Given the description of an element on the screen output the (x, y) to click on. 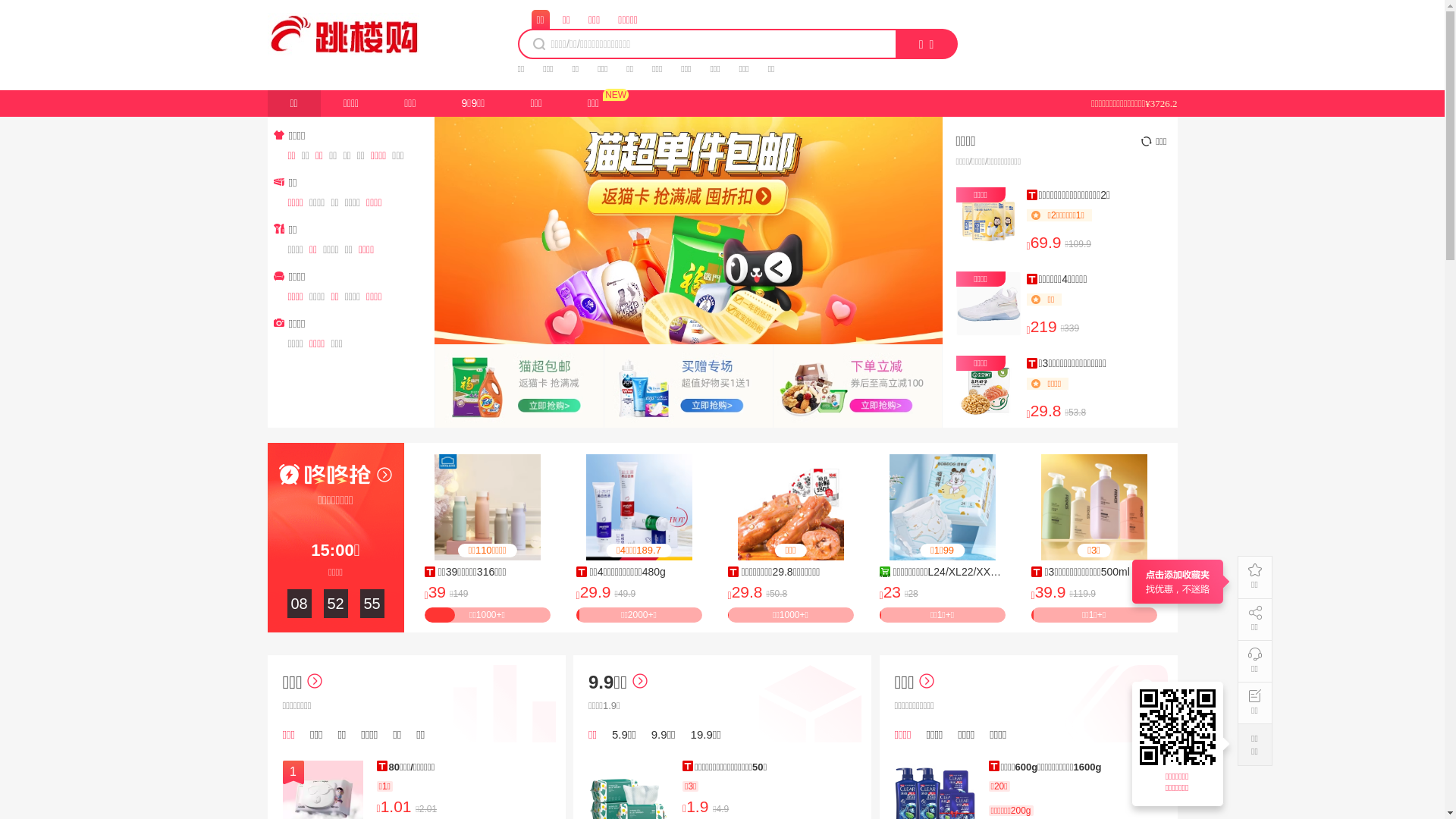
https://tb.311716.com Element type: hover (1179, 727)
